Given the description of an element on the screen output the (x, y) to click on. 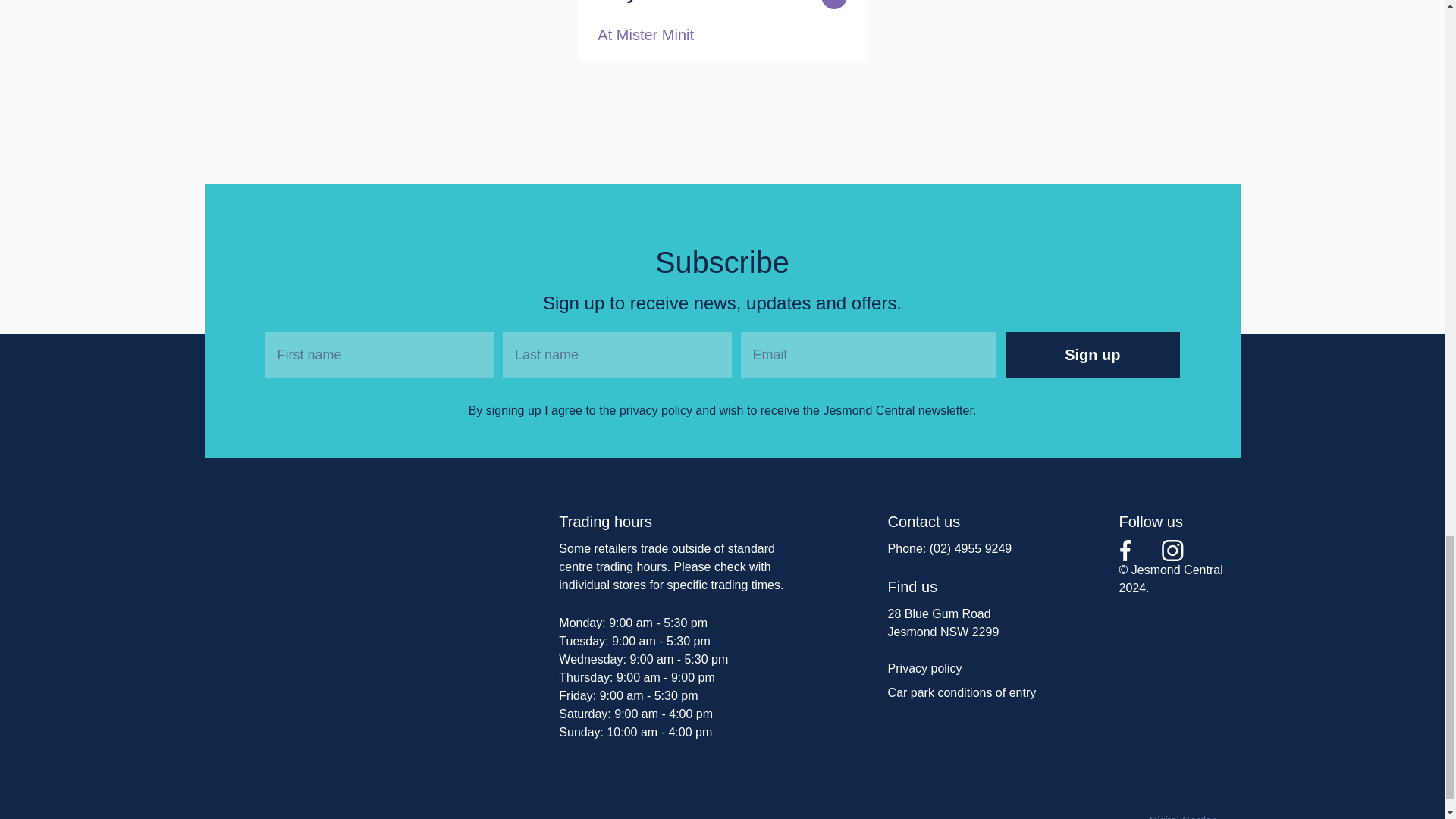
privacy policy (656, 410)
Digital Garden (1195, 814)
Privacy policy (925, 667)
Sign up (1092, 354)
Car park conditions of entry (962, 692)
Sign up (1092, 354)
